Given the description of an element on the screen output the (x, y) to click on. 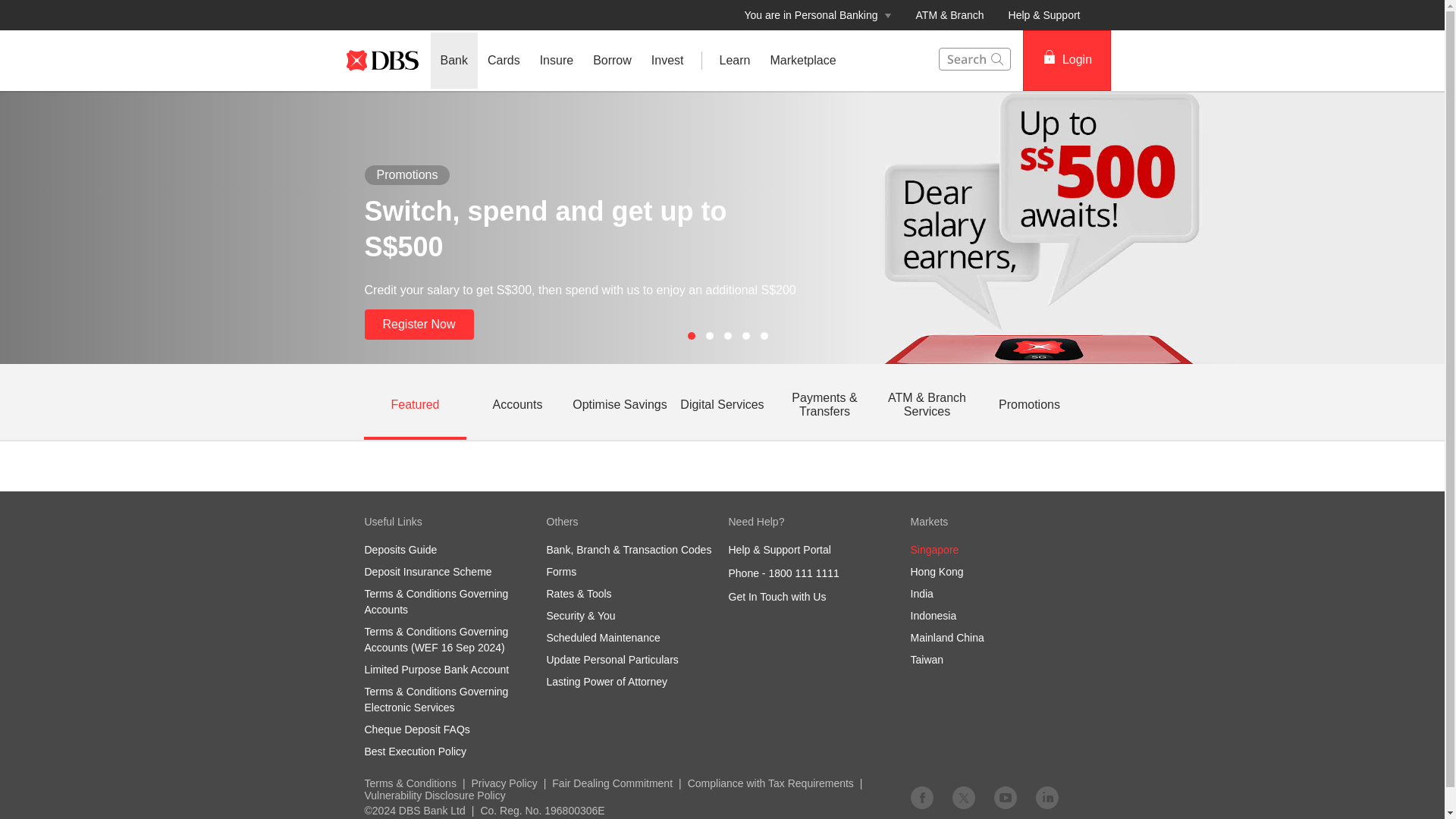
Borrow (612, 60)
Insure (556, 60)
Login (1065, 60)
Marketplace (802, 60)
Learn (735, 60)
You are in Personal Banking (817, 15)
Register Now (418, 324)
Cards (503, 60)
Invest (668, 60)
